Given the description of an element on the screen output the (x, y) to click on. 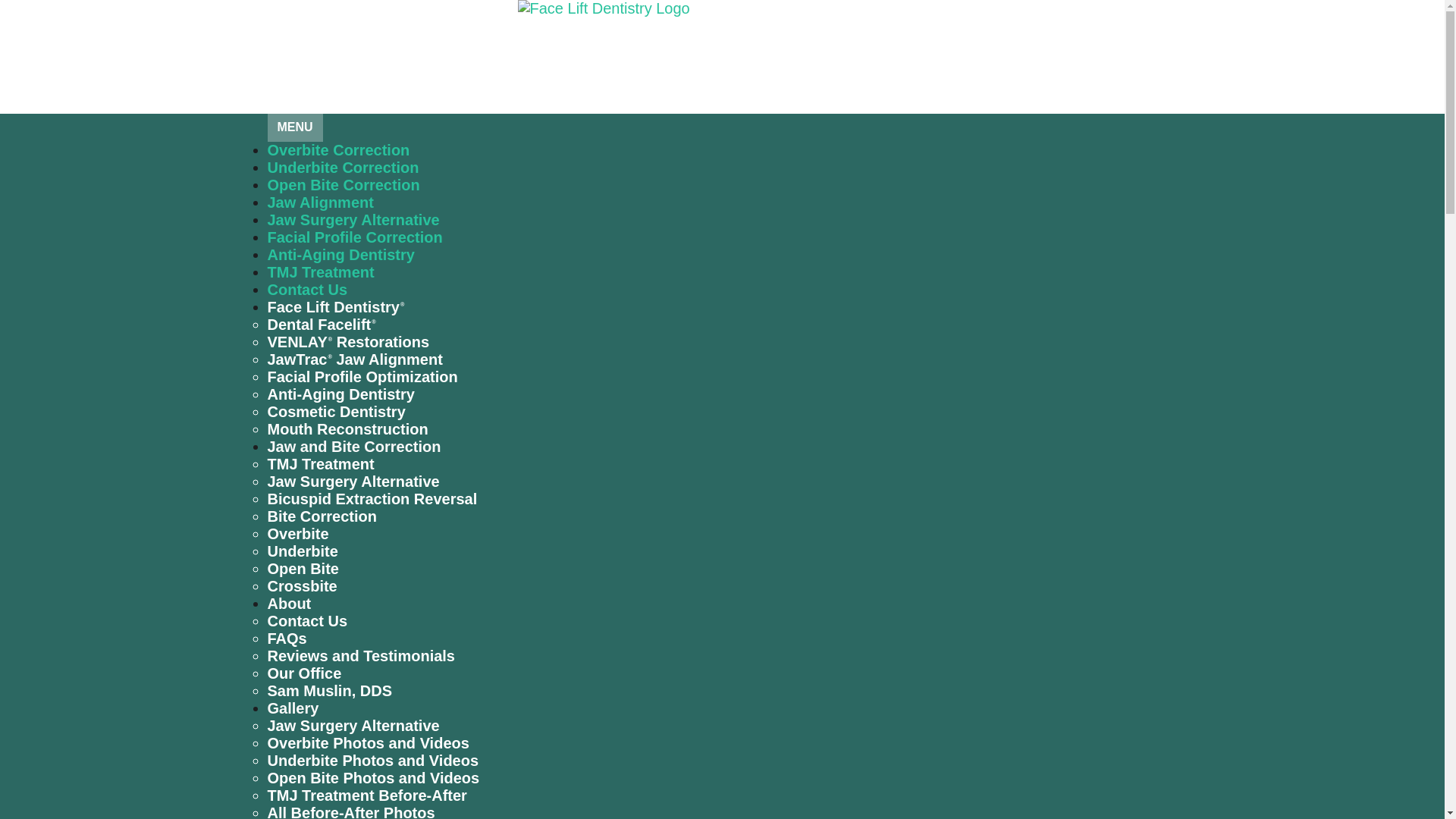
Underbite (301, 550)
TMJ Treatment (320, 463)
Bicuspid Extraction Reversal (371, 498)
FAQs (285, 638)
Underbite Photos and Videos (372, 760)
Open Bite Correction (342, 184)
Reviews and Testimonials (360, 655)
About (288, 603)
Jaw Surgery Alternative (352, 219)
Overbite Correction (337, 149)
